Given the description of an element on the screen output the (x, y) to click on. 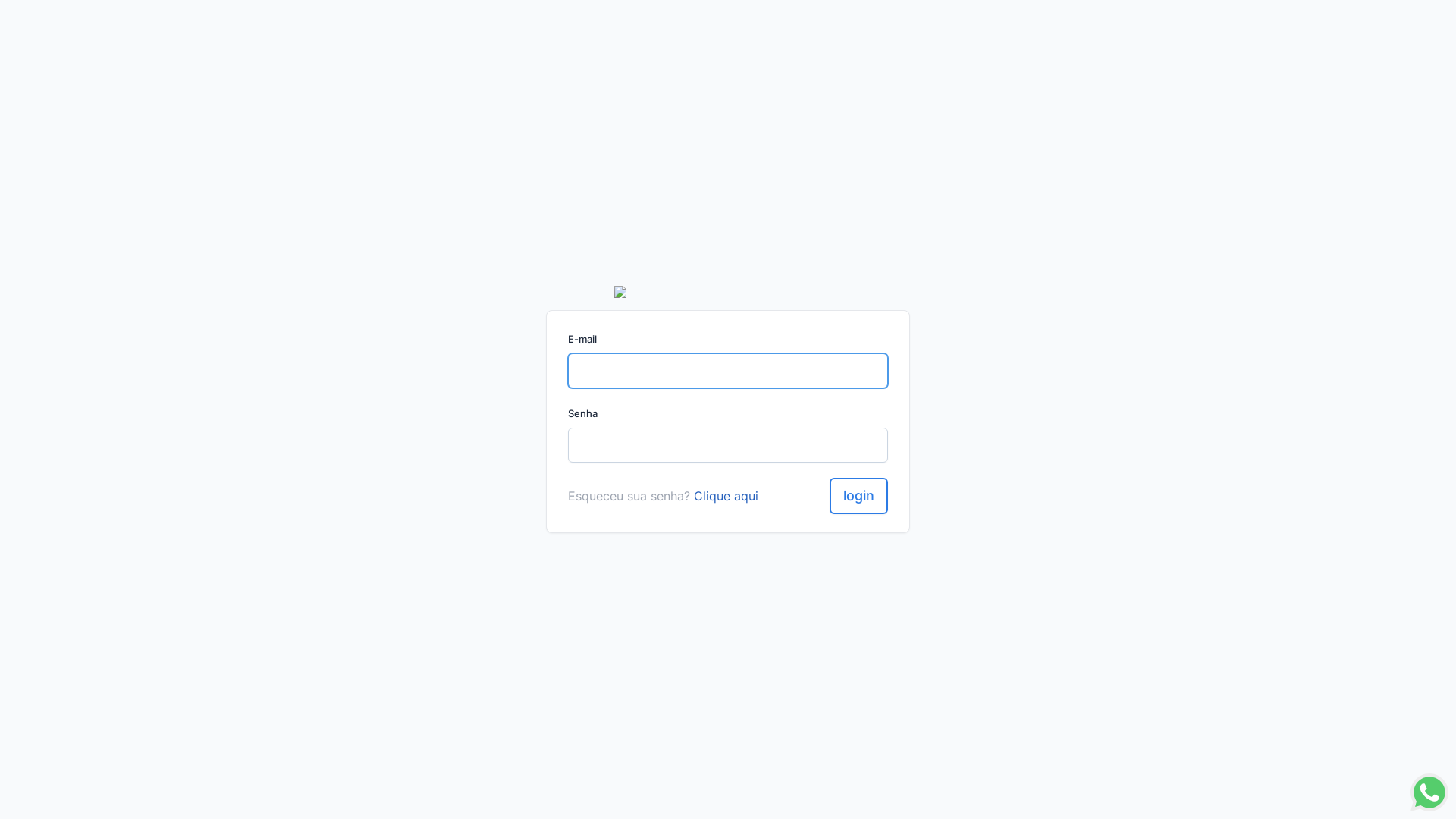
Clique aqui Element type: text (725, 495)
Login Element type: text (858, 495)
